Given the description of an element on the screen output the (x, y) to click on. 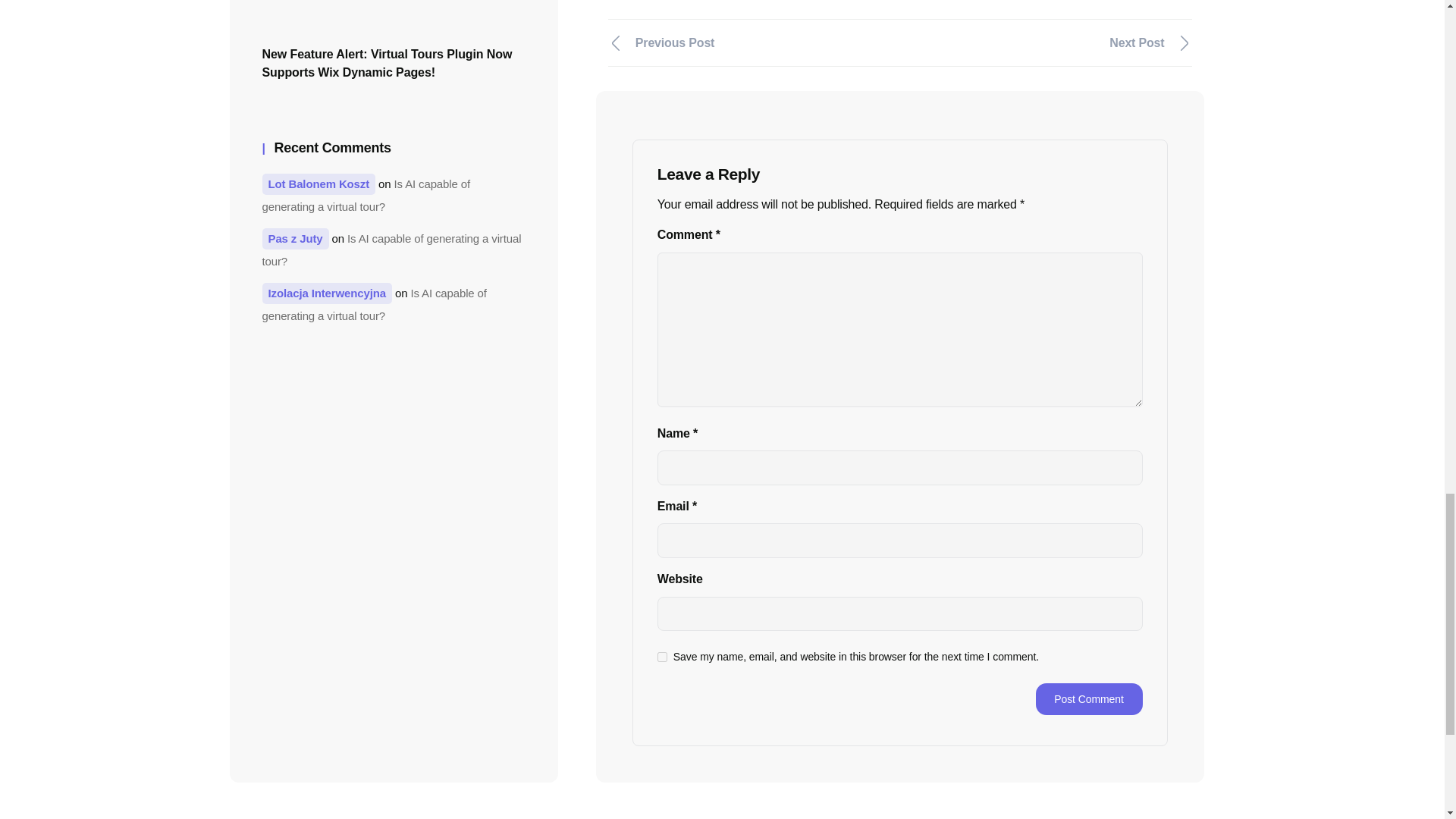
Next Post (1052, 42)
Post Comment (1088, 698)
yes (662, 656)
Previous Post (748, 42)
Post Comment (1088, 698)
